Given the description of an element on the screen output the (x, y) to click on. 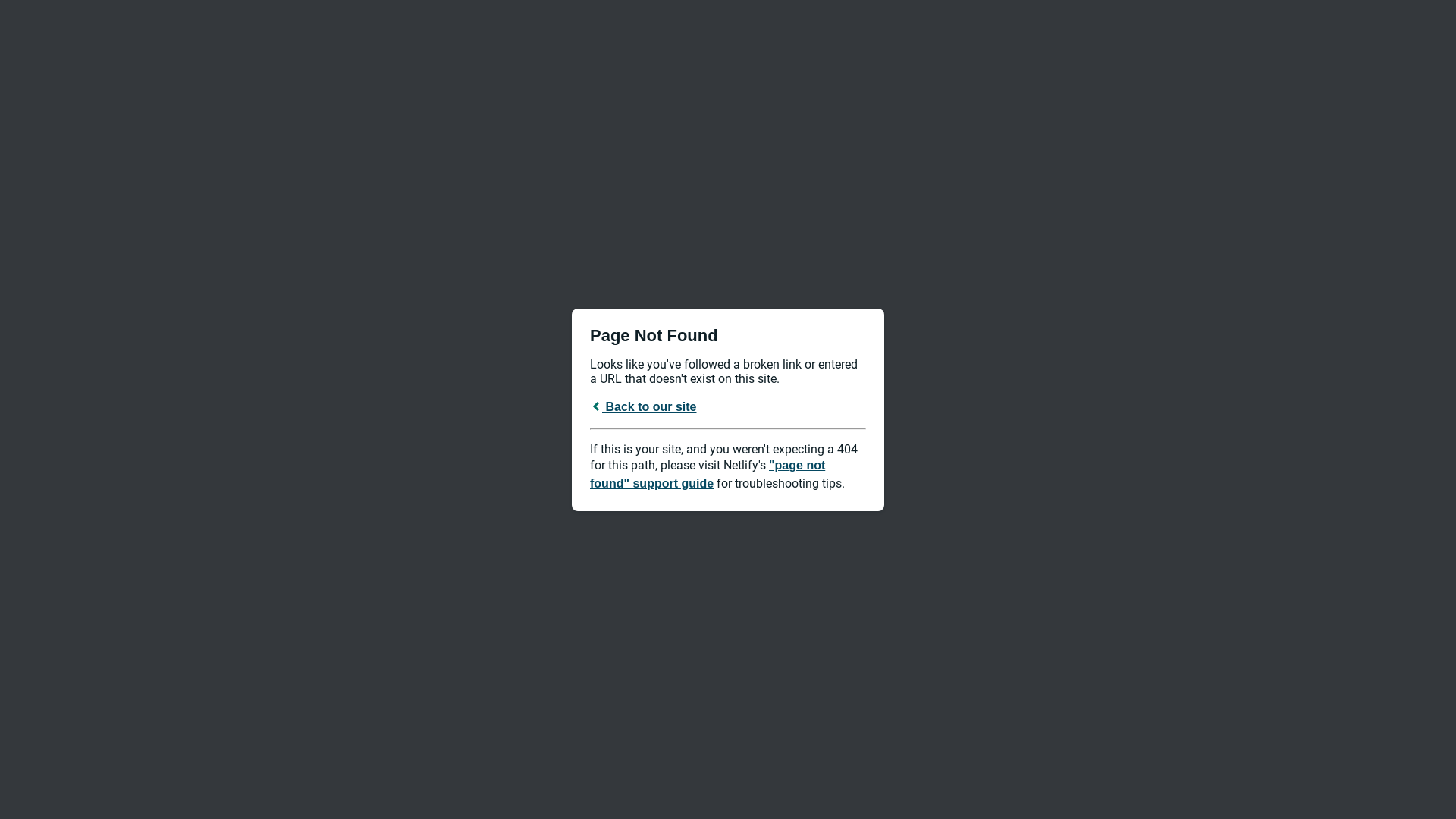
"page not found" support guide Element type: text (707, 473)
Back to our site Element type: text (642, 406)
